Given the description of an element on the screen output the (x, y) to click on. 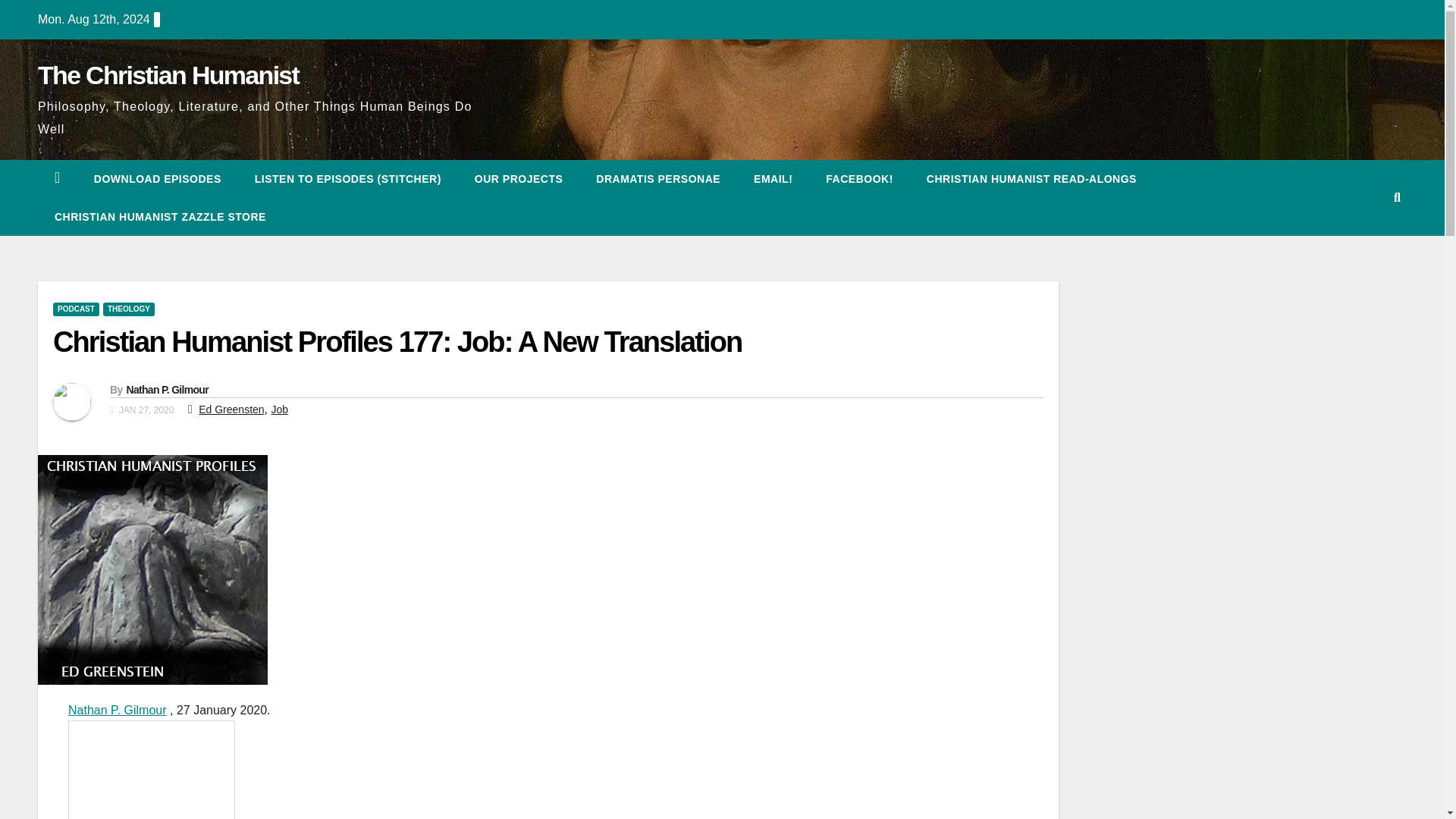
The Christian Humanist (167, 74)
DOWNLOAD EPISODES (157, 178)
DRAMATIS PERSONAE (657, 178)
OUR PROJECTS (518, 178)
Download Episodes (157, 178)
